Given the description of an element on the screen output the (x, y) to click on. 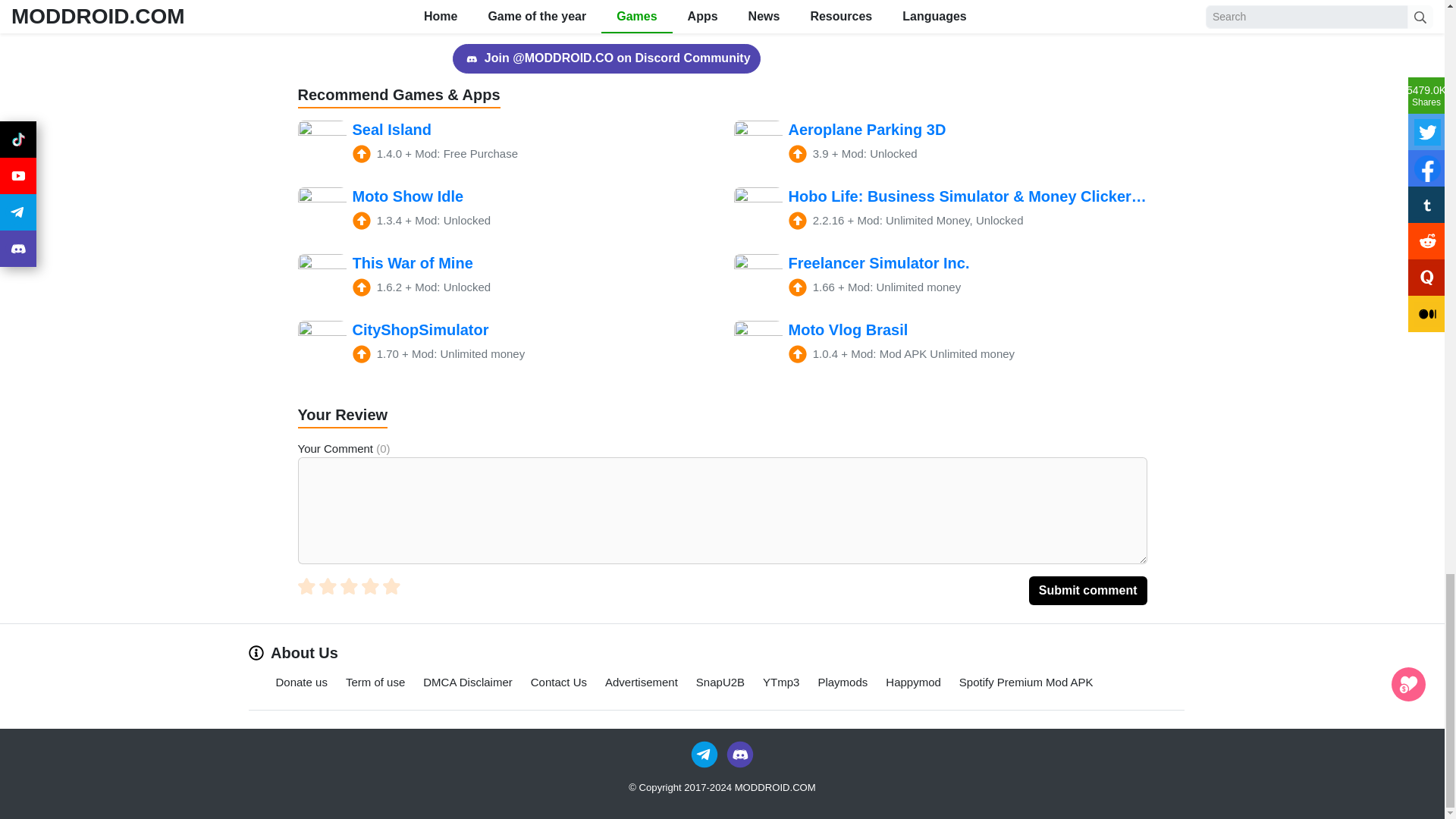
This War of Mine (503, 277)
CityShopSimulator (503, 345)
Moto Vlog Brasil (940, 345)
Aeroplane Parking 3D (940, 144)
Seal Island (503, 144)
Moto Show Idle (503, 211)
Freelancer Simulator Inc. (940, 277)
